Given the description of an element on the screen output the (x, y) to click on. 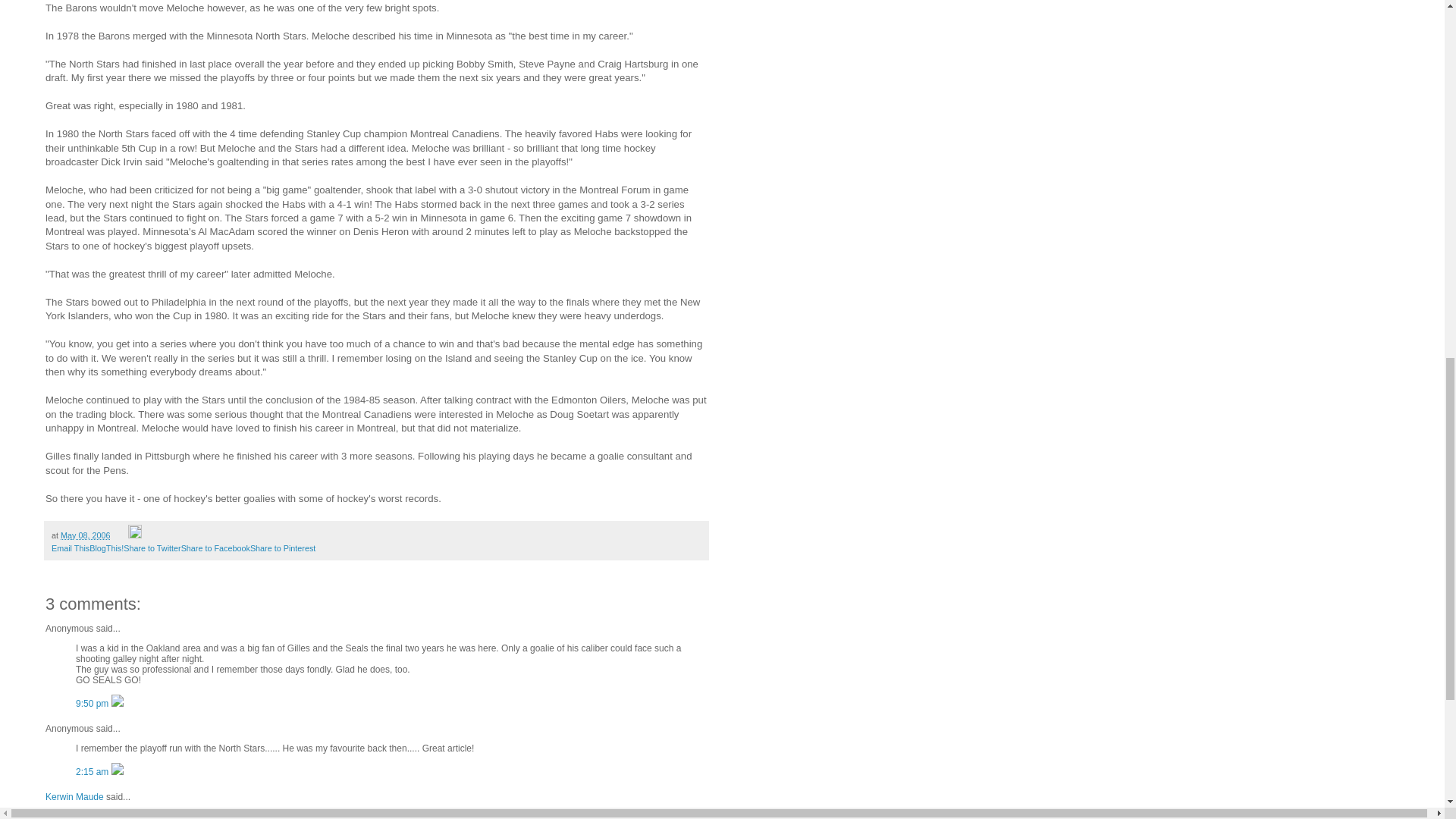
Share to Pinterest (282, 547)
comment permalink (93, 771)
May 08, 2006 (85, 534)
2:15 am (93, 771)
BlogThis! (105, 547)
Share to Pinterest (282, 547)
permanent link (85, 534)
Email This (69, 547)
Share to Facebook (215, 547)
Delete Comment (117, 703)
Delete Comment (117, 771)
9:50 pm (93, 703)
Edit Post (134, 534)
Email Post (120, 534)
comment permalink (93, 703)
